Given the description of an element on the screen output the (x, y) to click on. 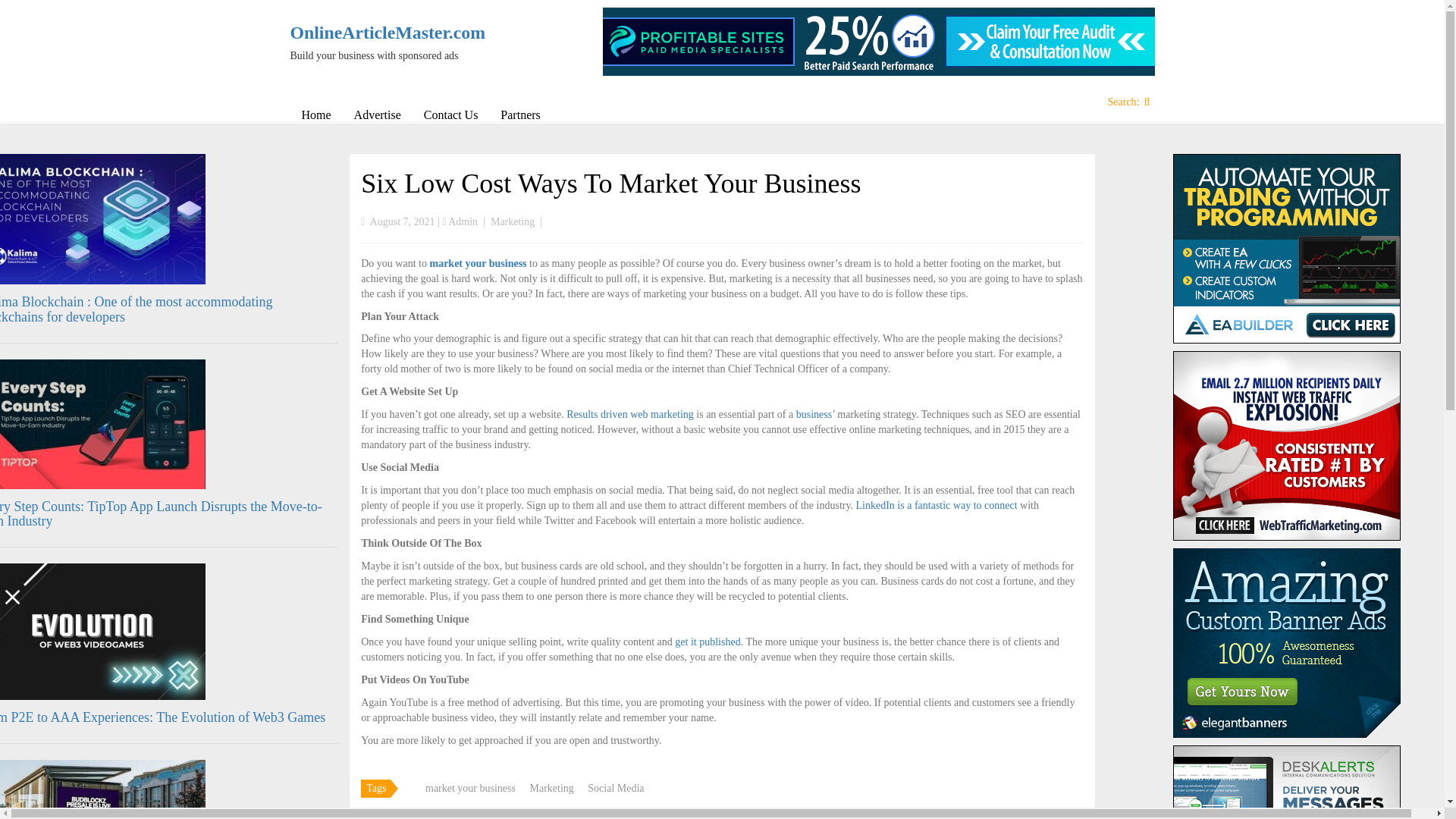
Partners (520, 115)
Contact Us (450, 115)
Advertise (377, 115)
Home (315, 115)
OnlineArticleMaster.com (389, 32)
Admin (462, 221)
Posts by Admin (462, 221)
From P2E to AAA Experiences: The Evolution of Web3 Games (162, 717)
Six Low Cost Ways To Market Your Business (610, 183)
